Given the description of an element on the screen output the (x, y) to click on. 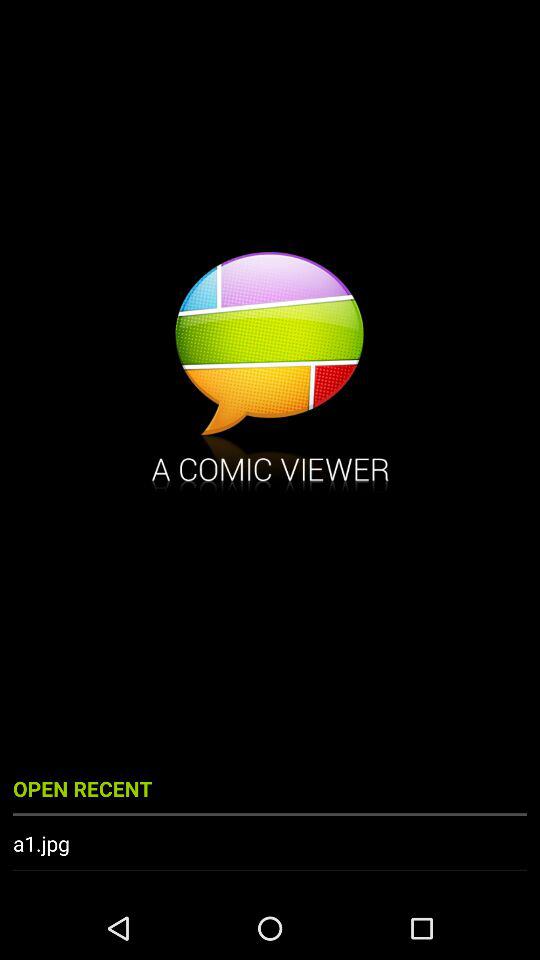
choose item below the open recent item (269, 843)
